Given the description of an element on the screen output the (x, y) to click on. 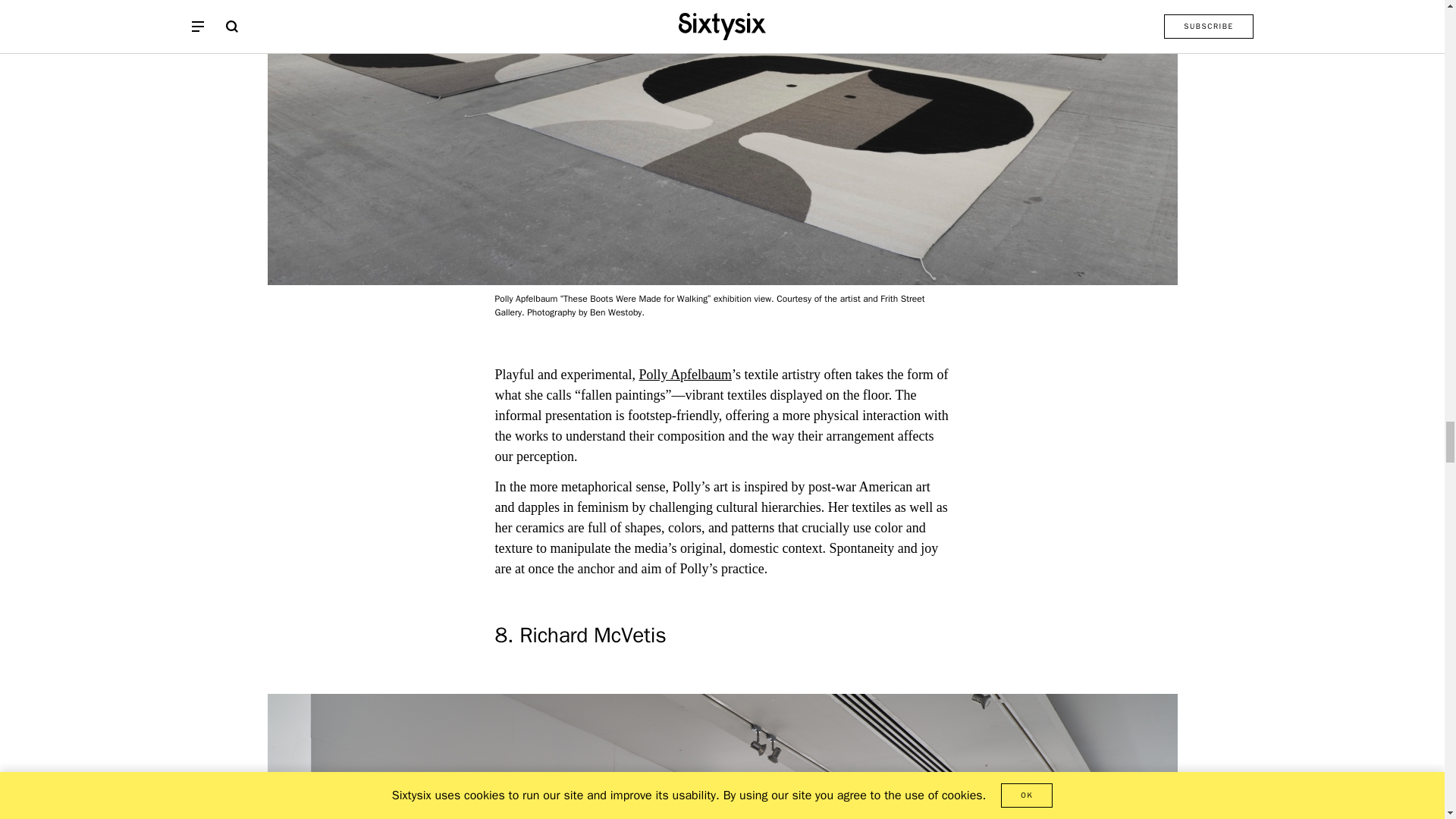
Polly Apfelbaum (685, 374)
